Given the description of an element on the screen output the (x, y) to click on. 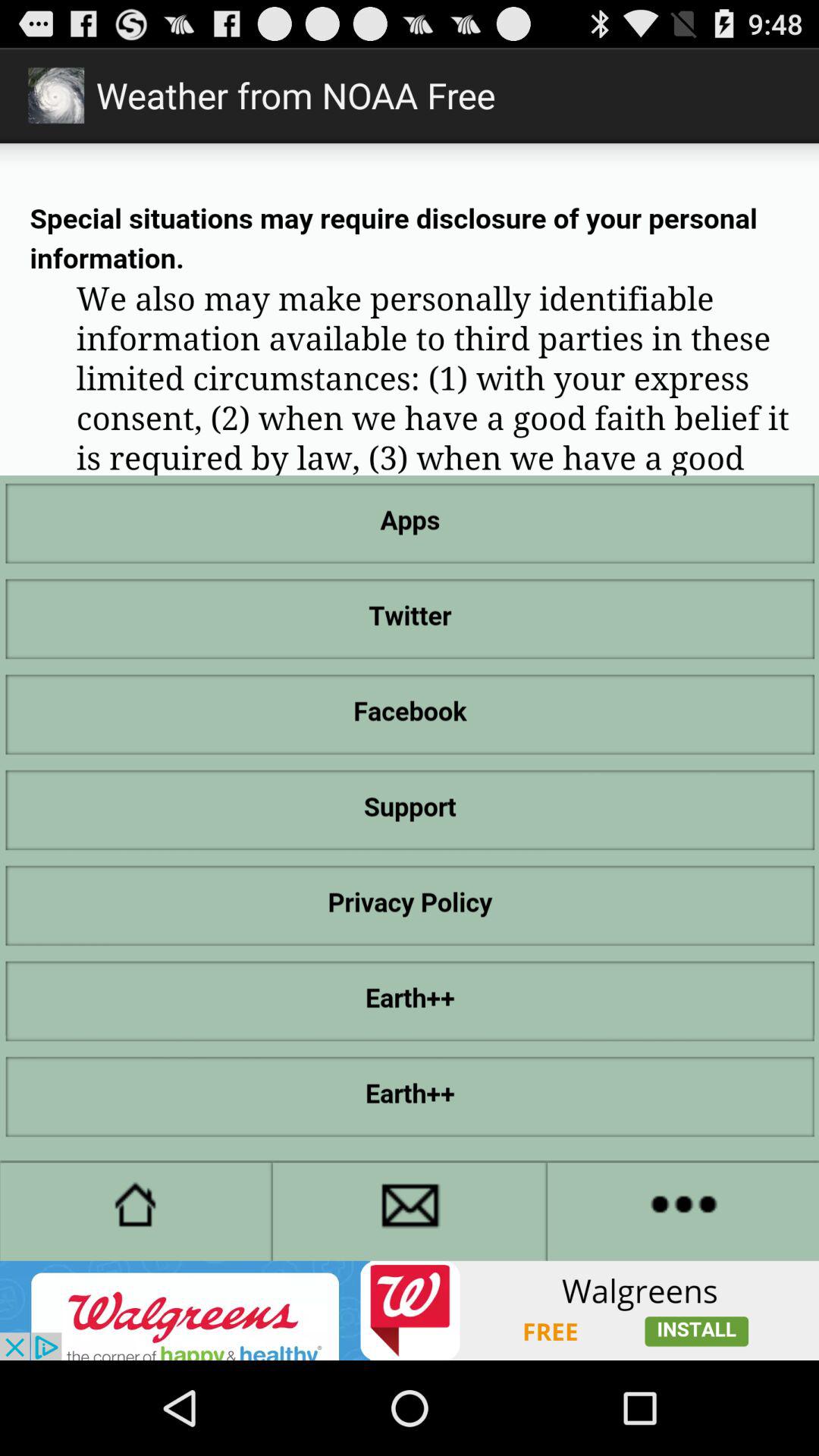
know about the advertisement (409, 1310)
